Given the description of an element on the screen output the (x, y) to click on. 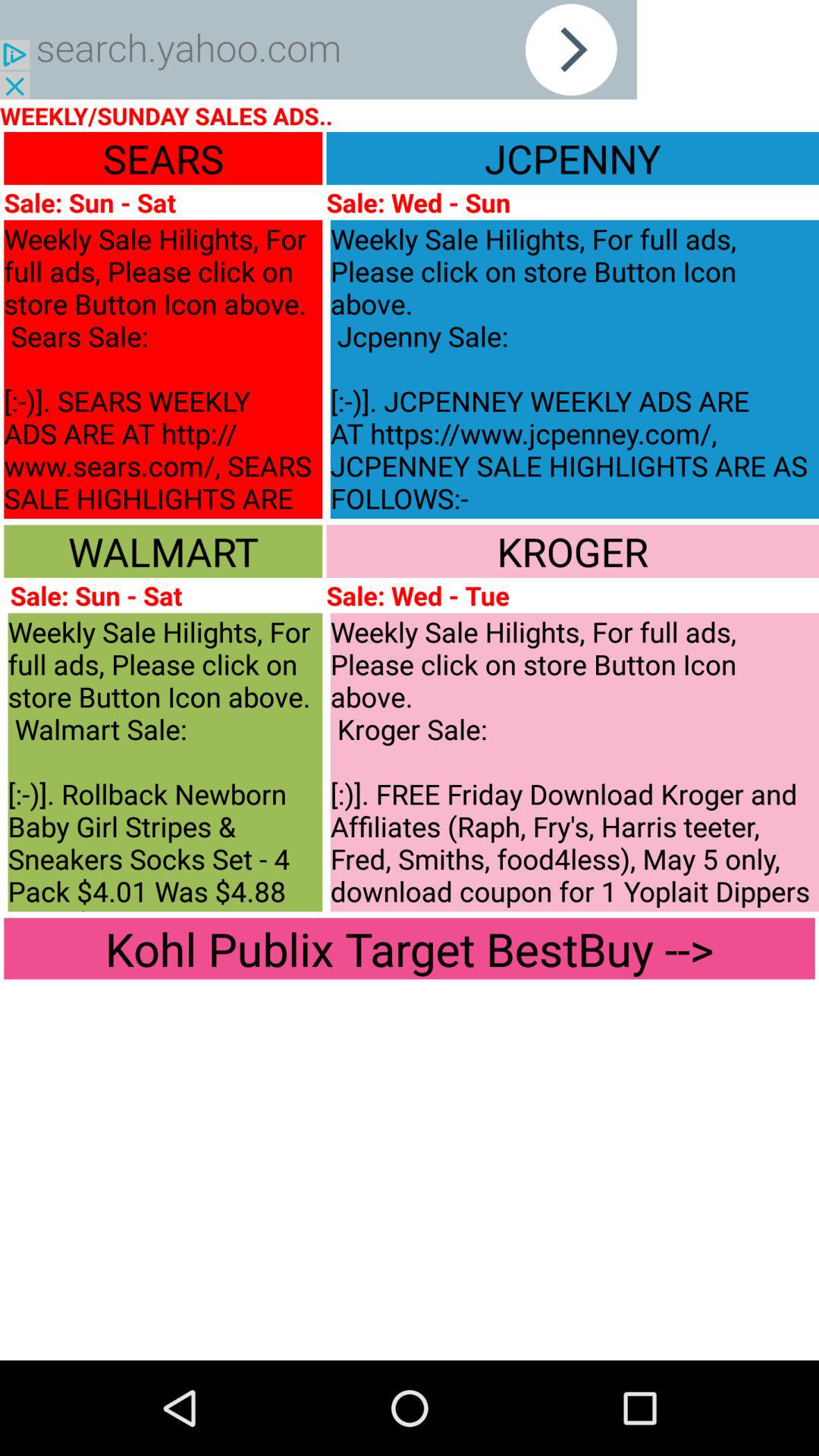
toggle search option (318, 49)
